Given the description of an element on the screen output the (x, y) to click on. 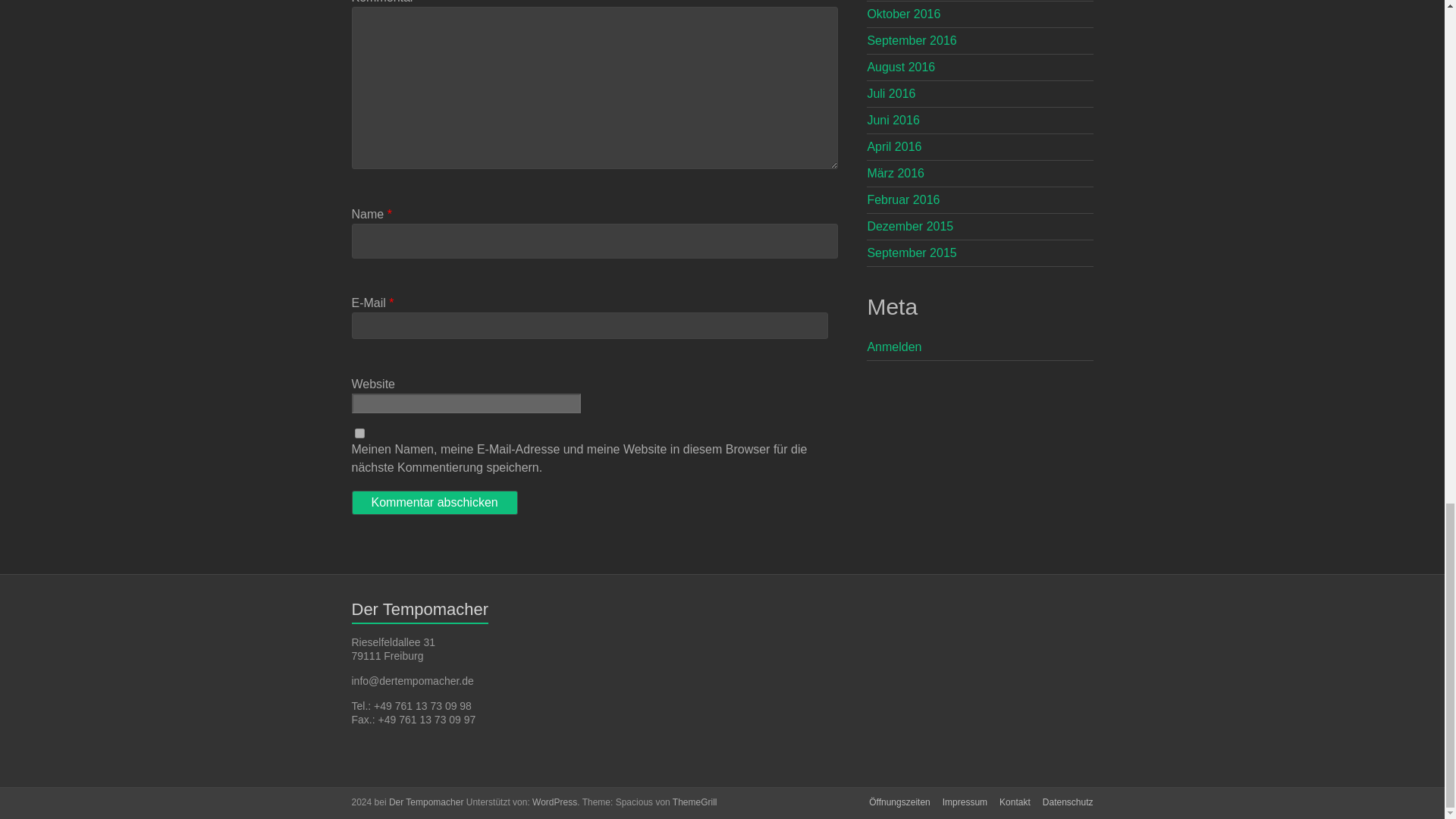
Der Tempomacher (425, 801)
Kommentar abschicken (435, 502)
Kommentar abschicken (435, 502)
yes (360, 433)
WordPress (554, 801)
ThemeGrill (694, 801)
